Given the description of an element on the screen output the (x, y) to click on. 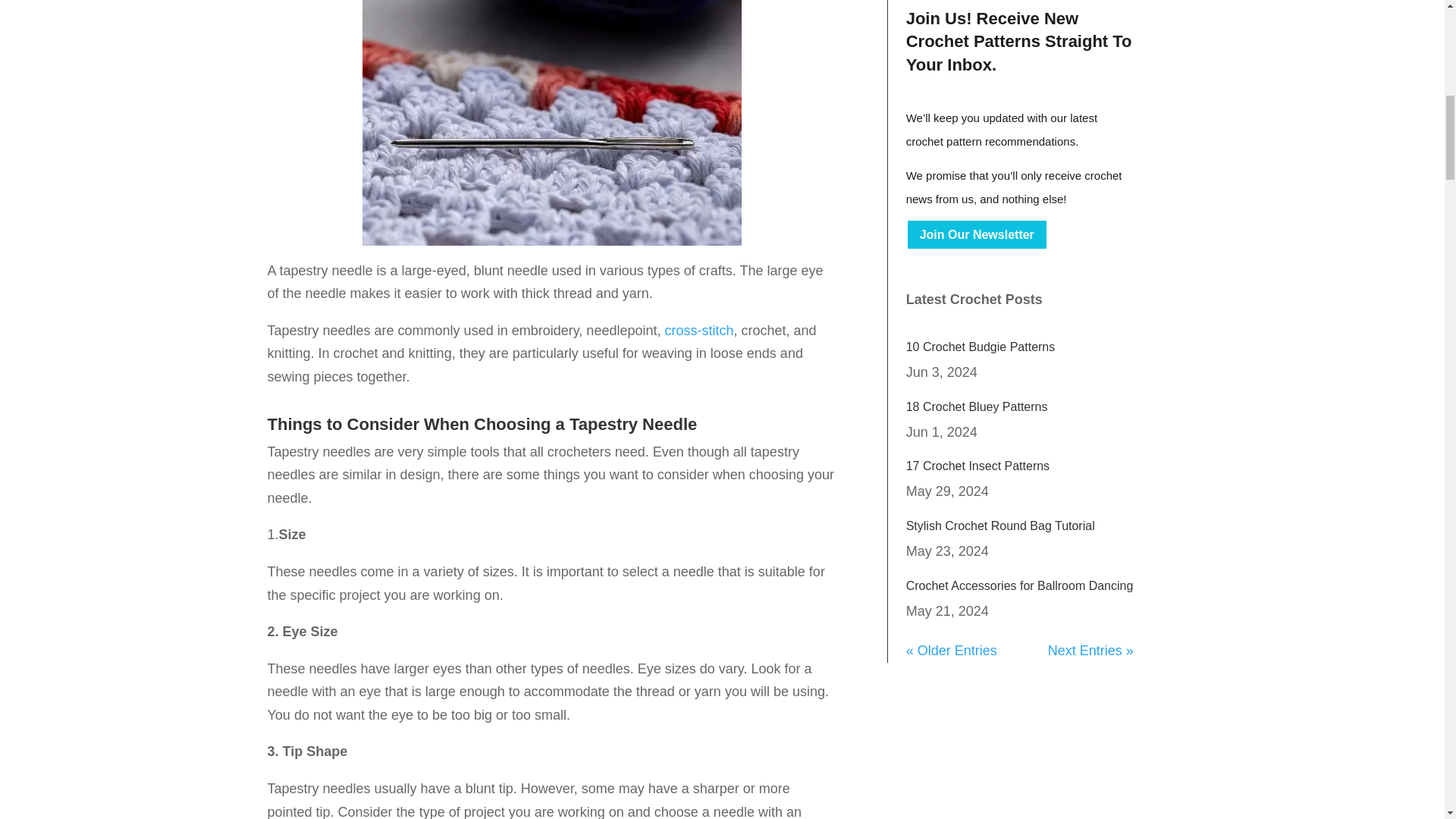
cross-stitch (698, 330)
A Guide to Tapestry Needles (551, 122)
